Given the description of an element on the screen output the (x, y) to click on. 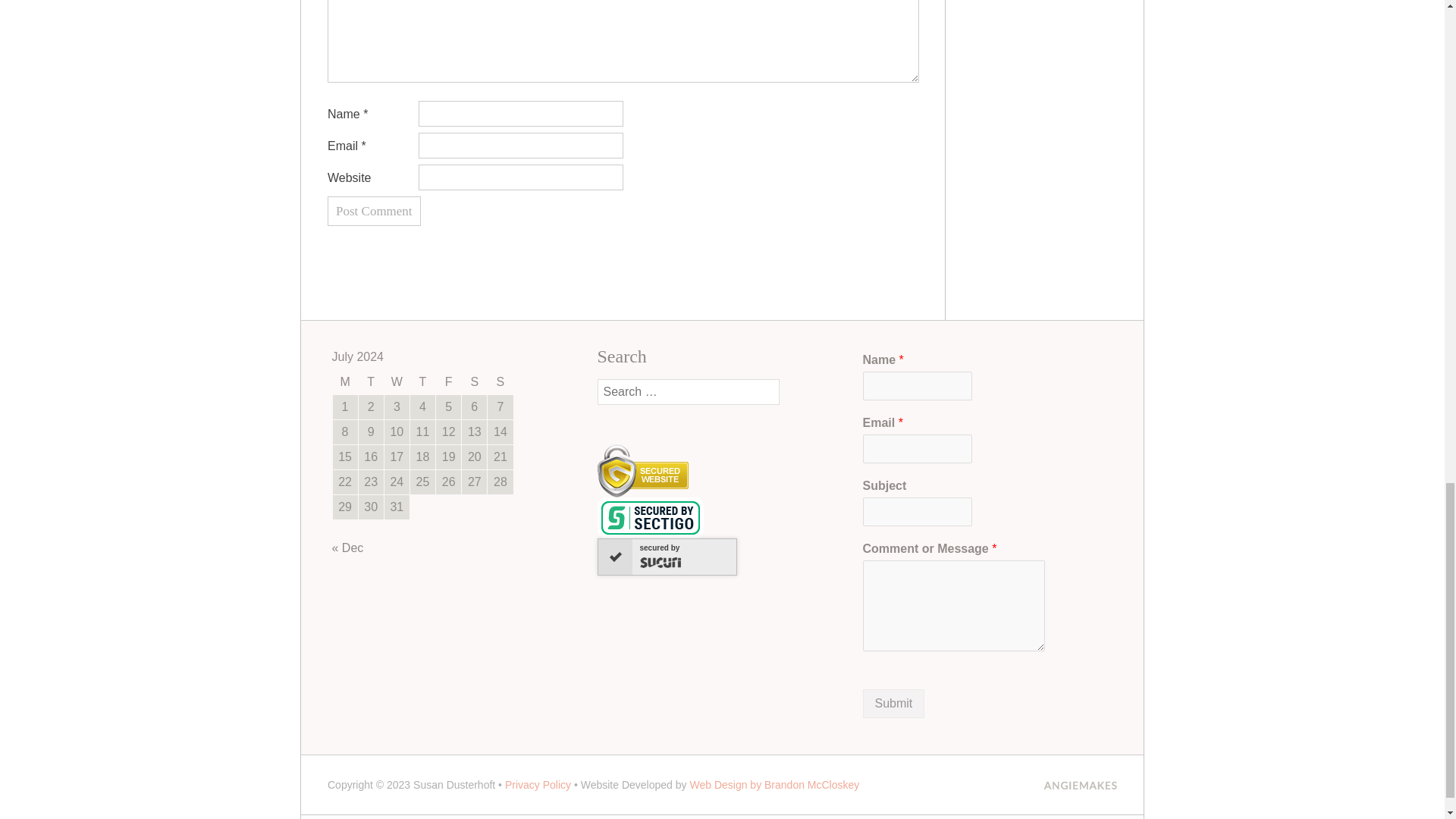
Sunday (499, 381)
Monday (343, 381)
Post Comment (373, 211)
Friday (448, 381)
Tuesday (371, 381)
Wednesday (396, 381)
Thursday (422, 381)
Saturday (473, 381)
